Given the description of an element on the screen output the (x, y) to click on. 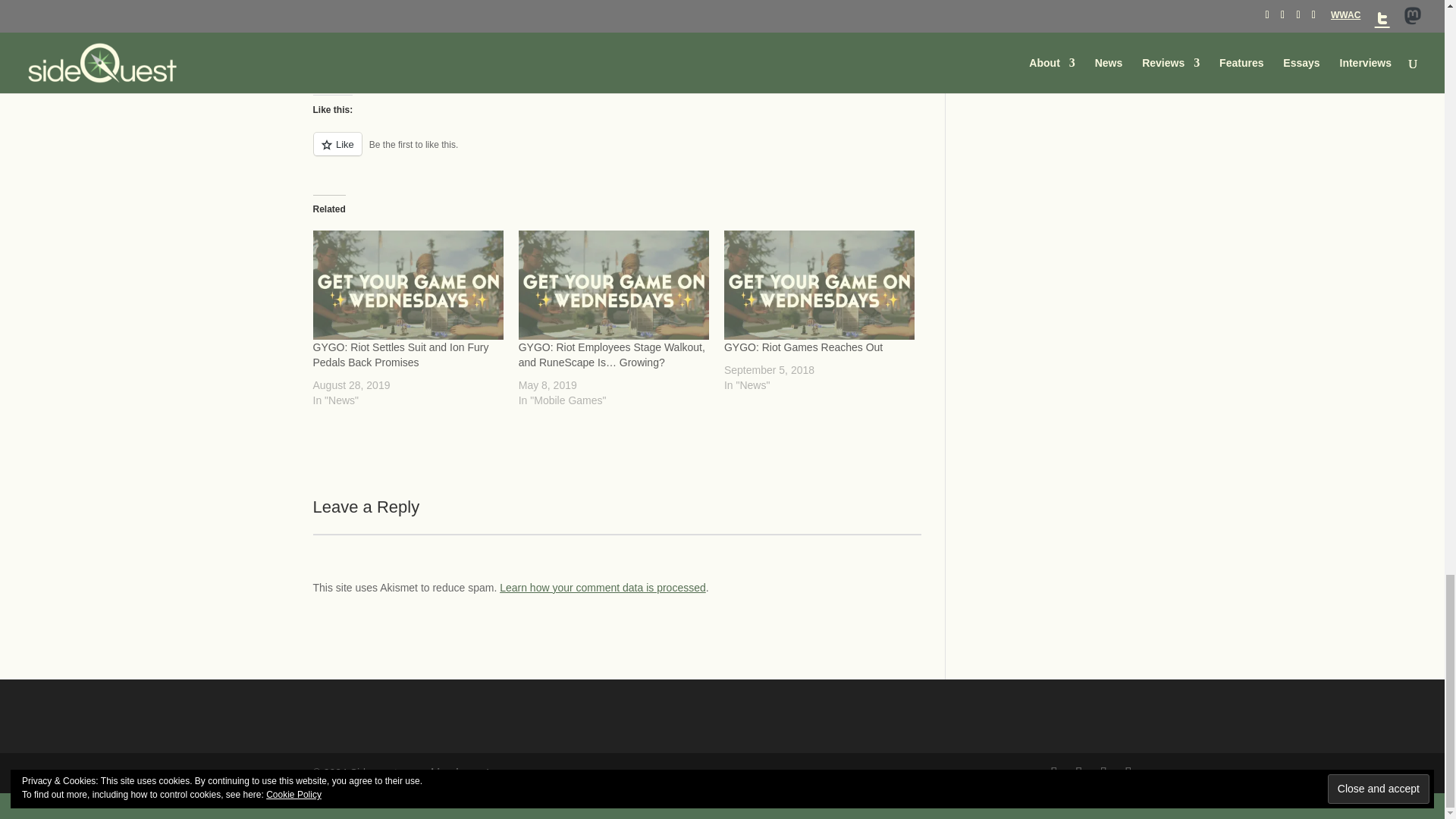
Click to share on Mastodon (384, 61)
Like or Reblog (616, 152)
Click to share on Tumblr (445, 61)
GYGO: Riot Settles Suit and Ion Fury Pedals Back Promises (400, 354)
GYGO: Riot Settles Suit and Ion Fury Pedals Back Promises (407, 284)
GYGO: Riot Games Reaches Out (818, 284)
Click to share on Twitter (324, 61)
Click to share on Facebook (354, 61)
Click to email a link to a friend (415, 61)
GYGO: Riot Games Reaches Out (802, 346)
